Given the description of an element on the screen output the (x, y) to click on. 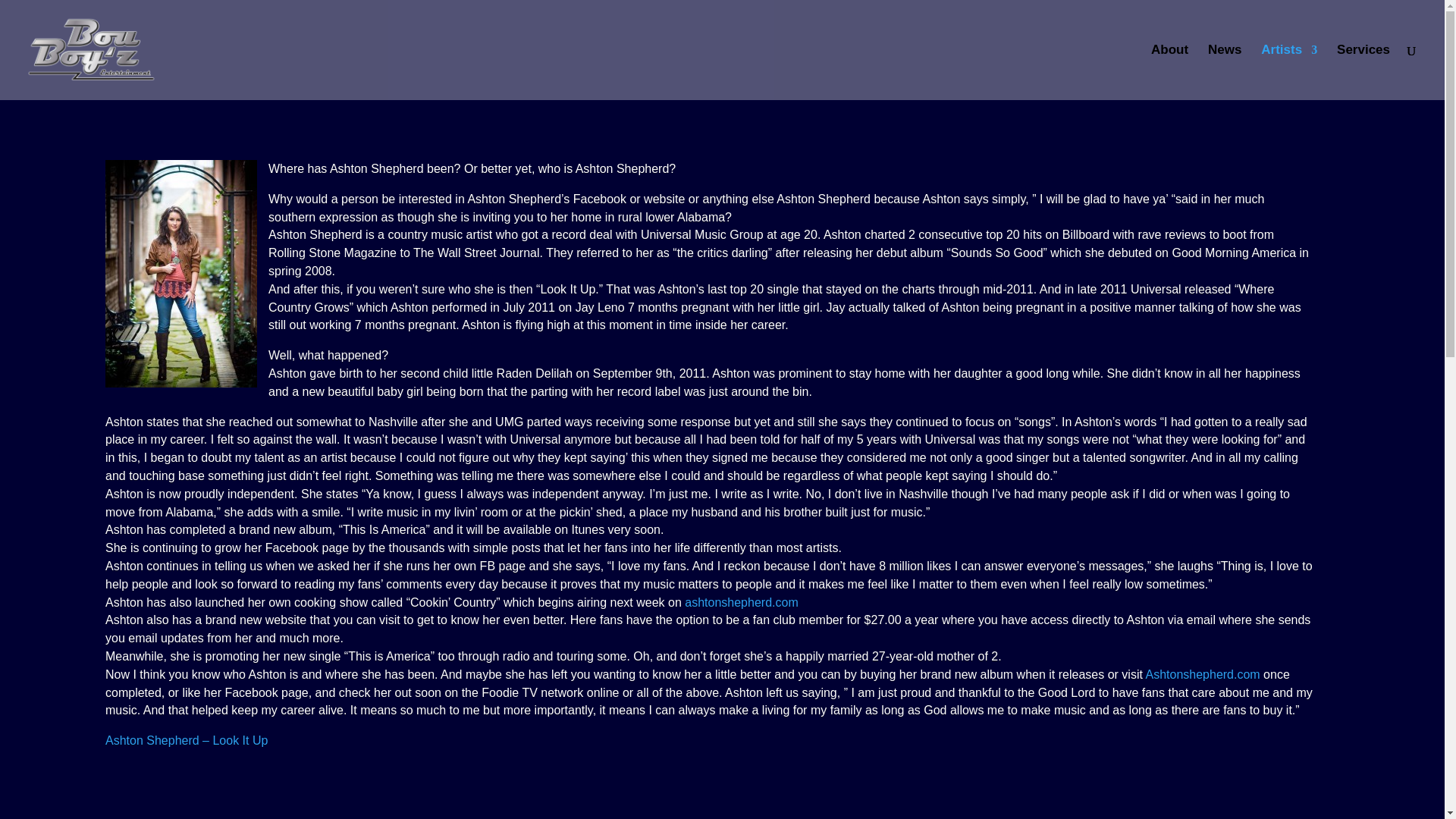
Services (1363, 72)
ashtonshepherd.com (740, 602)
Artists (1288, 72)
Ashtonshepherd.com (1201, 674)
